Given the description of an element on the screen output the (x, y) to click on. 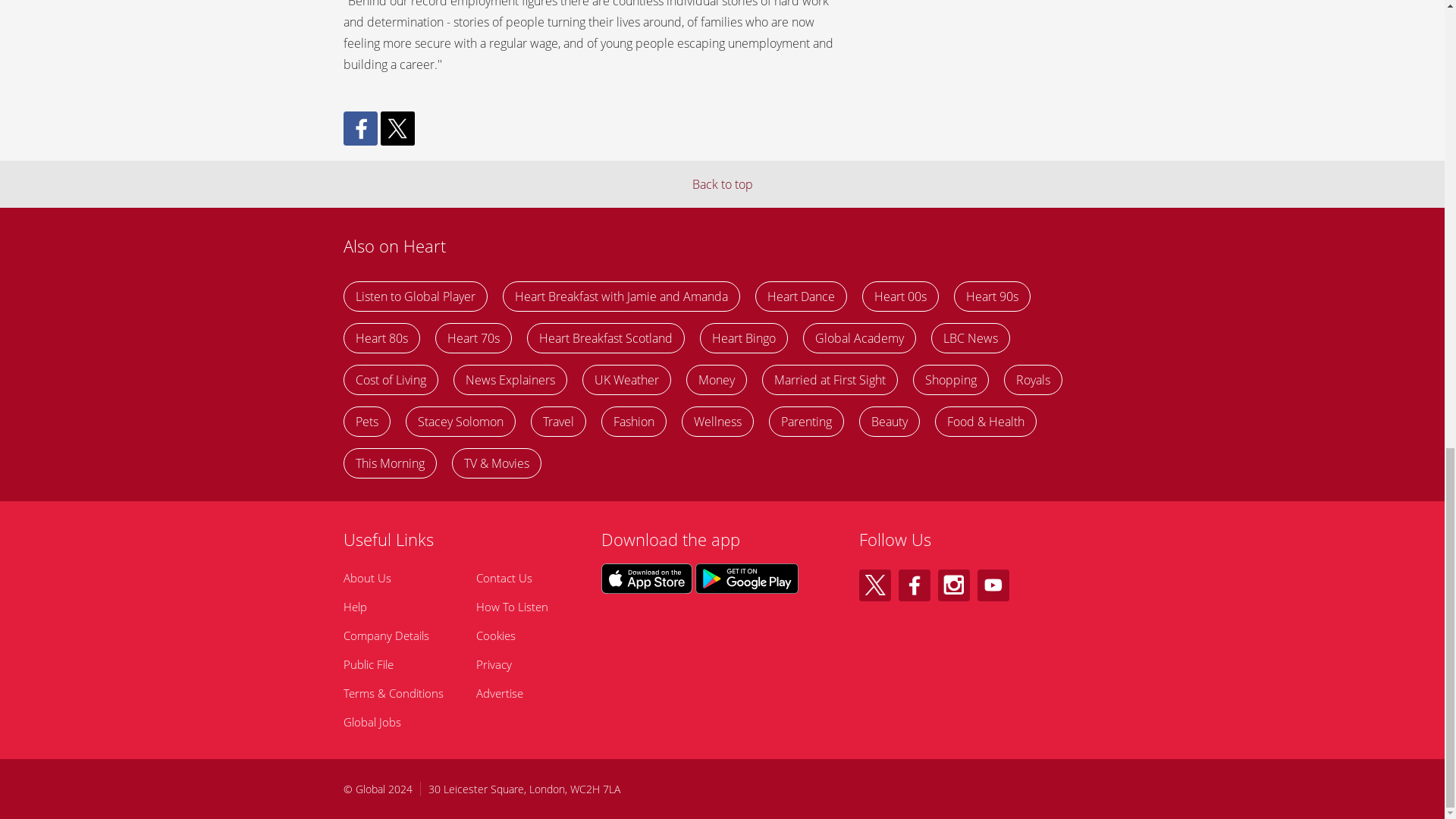
Follow Heart on Facebook (914, 585)
Follow Heart on Instagram (953, 585)
Follow Heart on Youtube (992, 585)
Back to top (721, 184)
Follow Heart on X (874, 585)
